Given the description of an element on the screen output the (x, y) to click on. 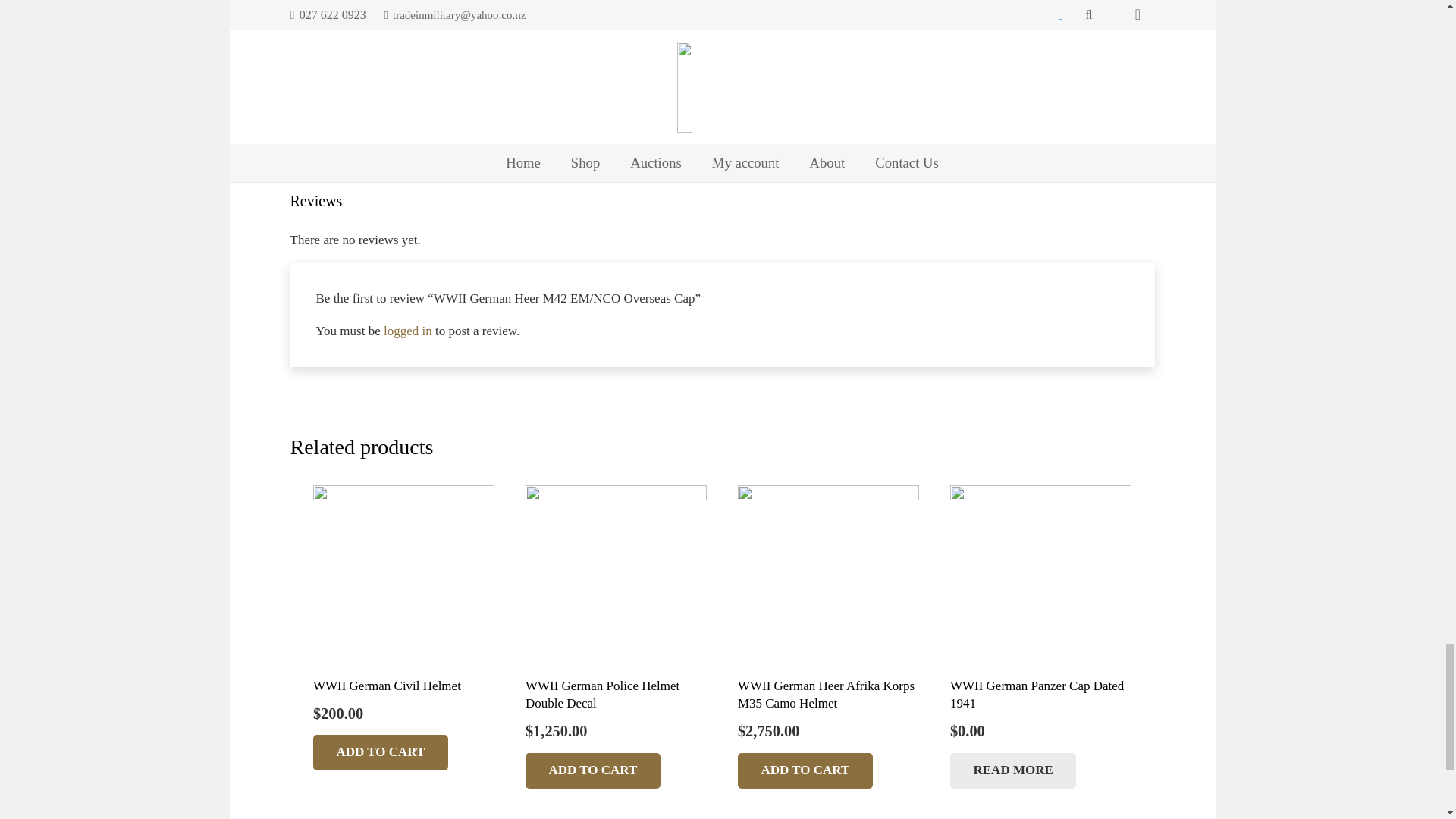
logged in (408, 330)
ADD TO CART (805, 770)
ADD TO CART (380, 752)
ADD TO CART (593, 770)
